Given the description of an element on the screen output the (x, y) to click on. 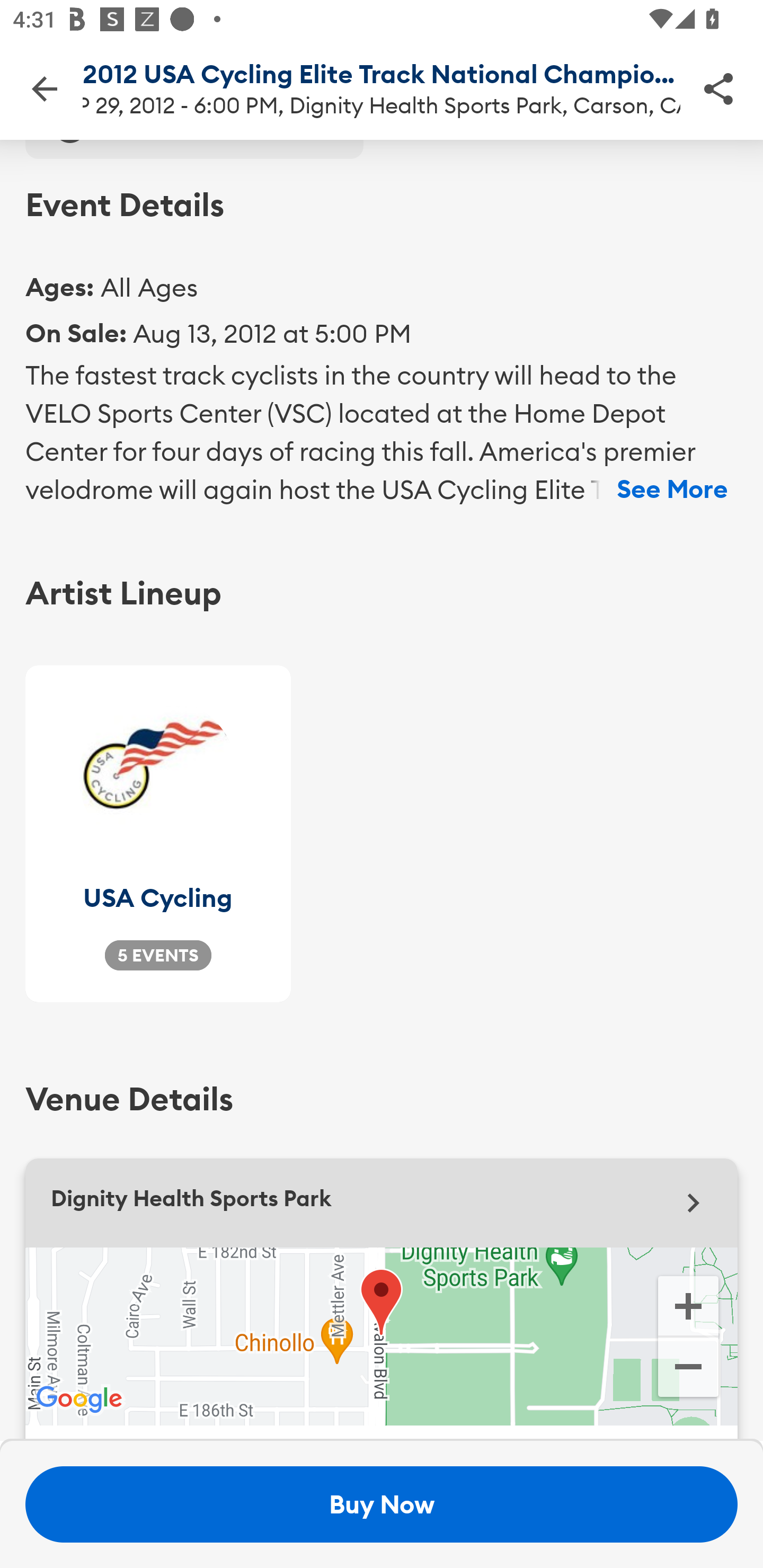
BackButton (44, 88)
Share (718, 88)
See More (671, 488)
USA Cycling 5 EVENTS (157, 832)
Dignity Health Sports Park (381, 1203)
Zoom in (687, 1304)
Zoom out (687, 1368)
Buy Now (381, 1504)
